Given the description of an element on the screen output the (x, y) to click on. 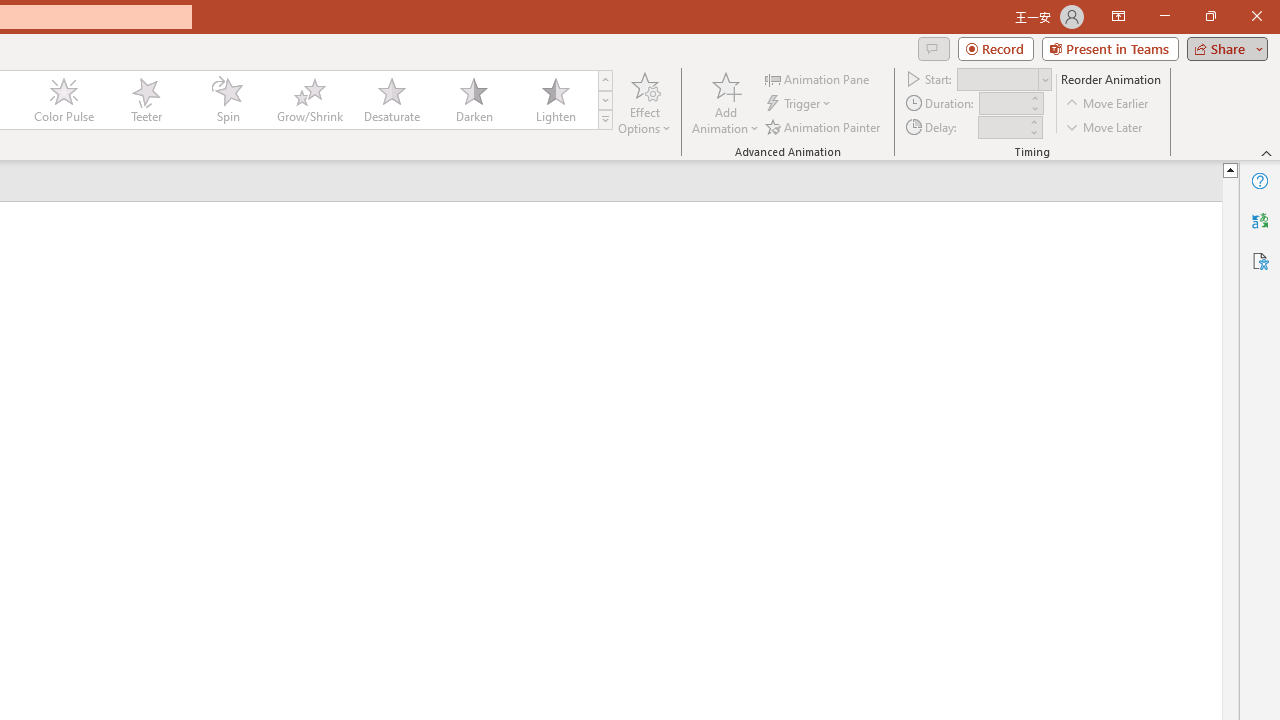
Move Later (1105, 126)
Color Pulse (63, 100)
Lighten (555, 100)
Animation Duration (1003, 103)
Spin (227, 100)
Desaturate (391, 100)
Move Earlier (1107, 103)
Animation Delay (1002, 127)
Animation Painter (824, 126)
Animation Styles (605, 120)
